Given the description of an element on the screen output the (x, y) to click on. 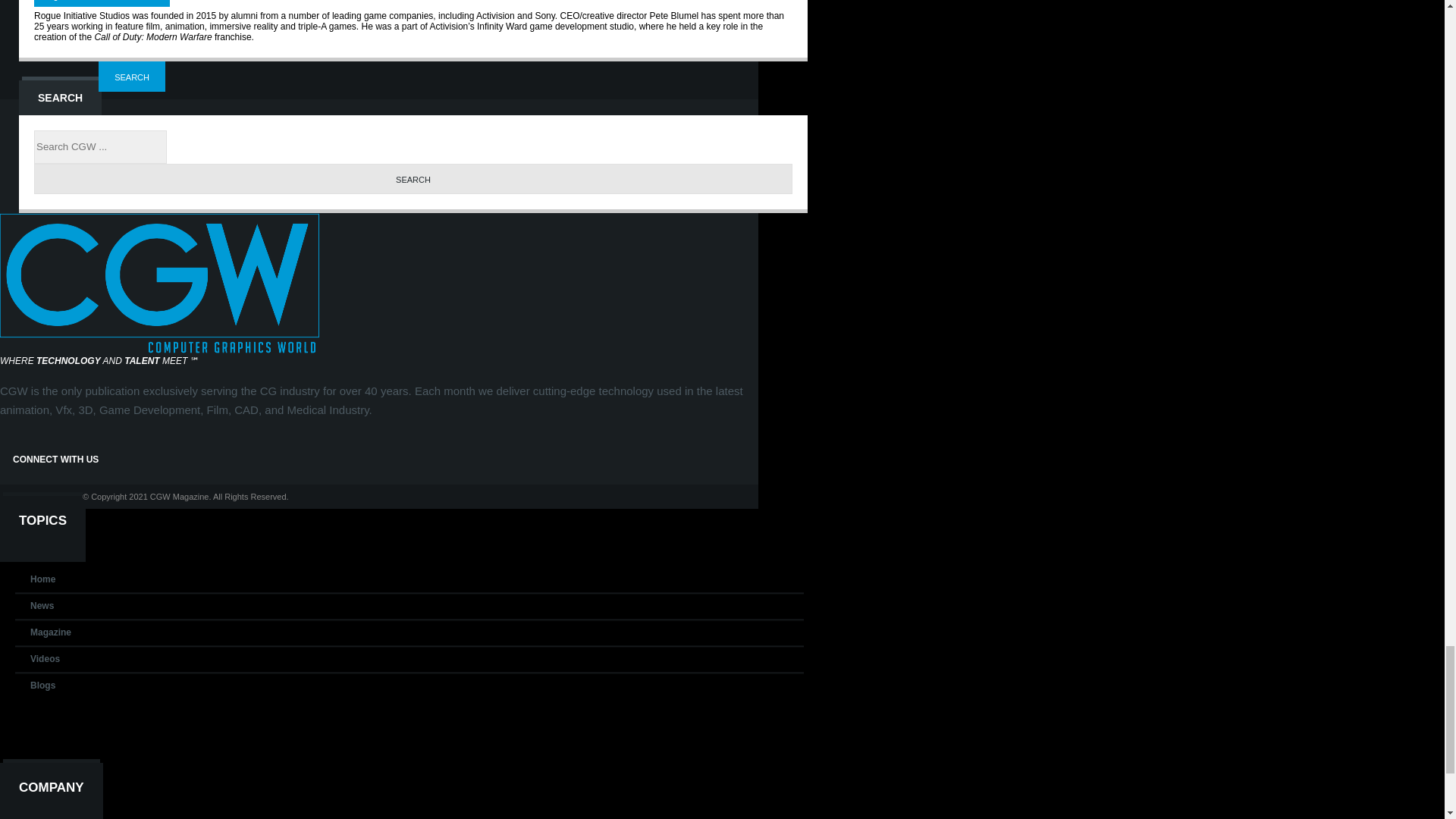
Search (412, 178)
Search (132, 76)
